Given the description of an element on the screen output the (x, y) to click on. 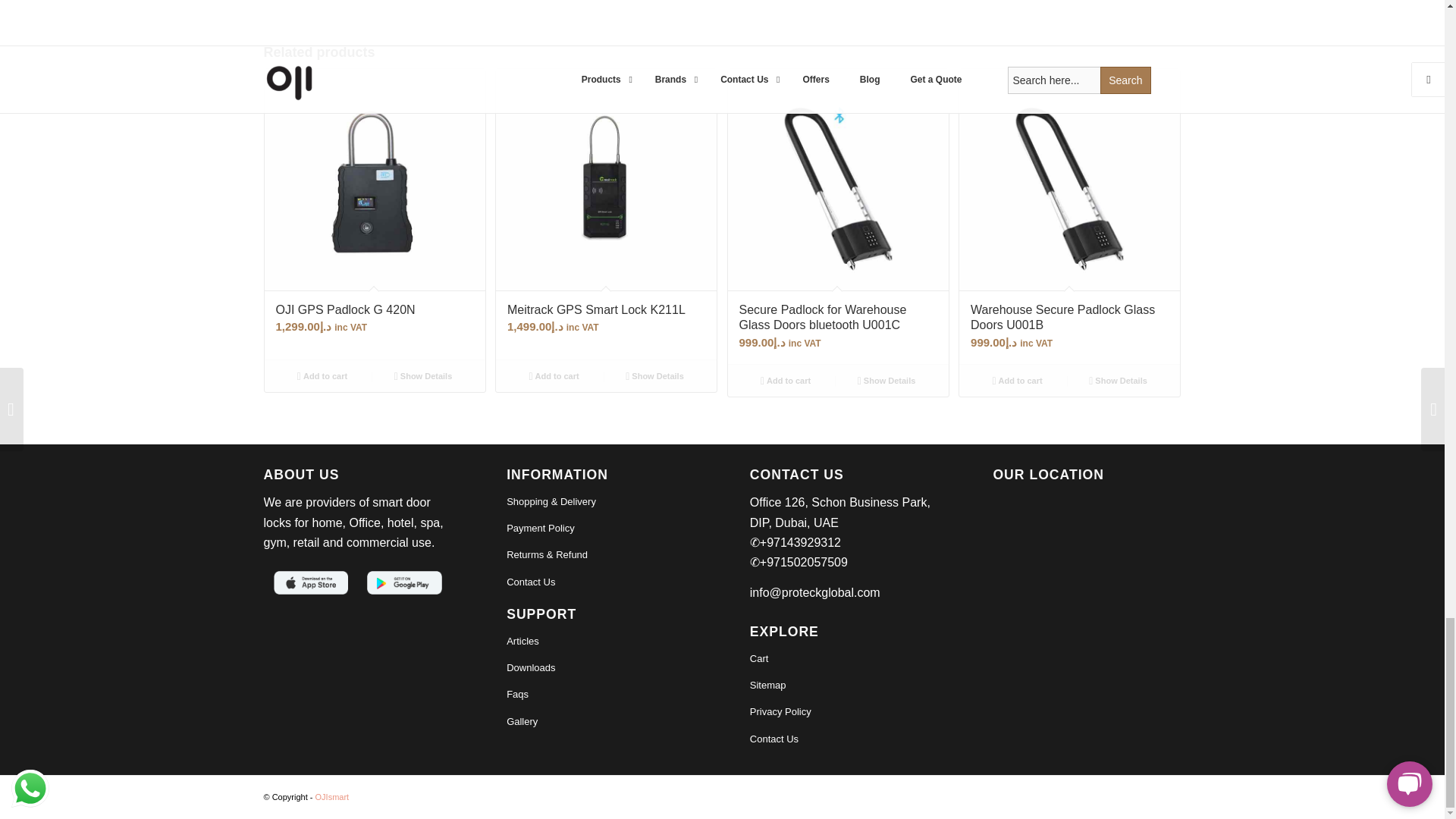
Warehouse Secure Padlock Glass Doors U001B 6 (1069, 178)
Meitrack GPS Smart Lock K211L 4 (606, 178)
OJI GPS Padlock G 420N 3 (373, 178)
Secure Padlock for Warehouse Glass Doors bluetooth U001C 5 (838, 178)
